Given the description of an element on the screen output the (x, y) to click on. 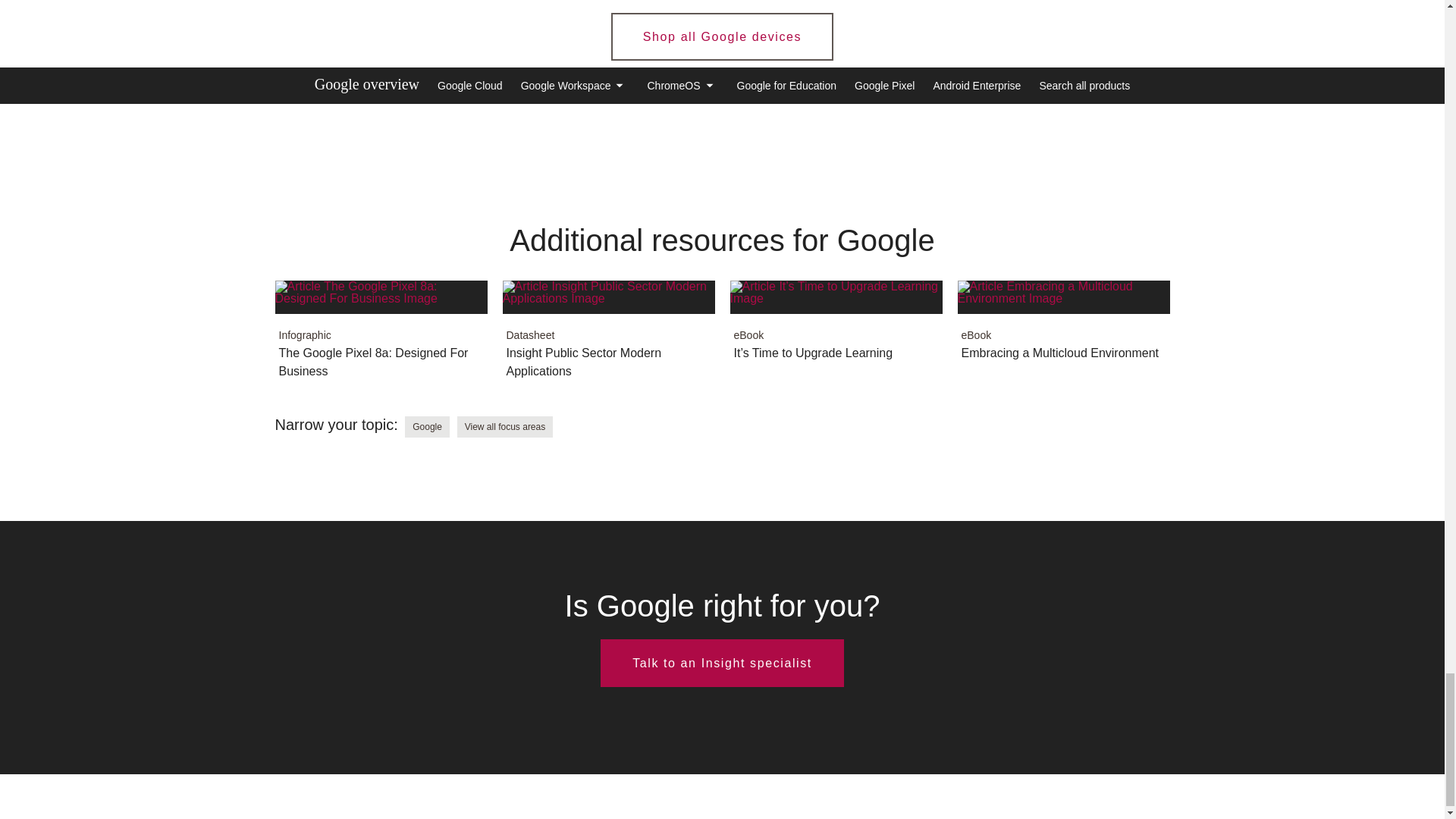
View all focus areas (608, 337)
Read more (505, 426)
Read more (608, 337)
Read more (835, 328)
Talk to an Insight specialist (380, 337)
Read more (721, 663)
Shop all Google devices (1062, 328)
Google (721, 36)
